Given the description of an element on the screen output the (x, y) to click on. 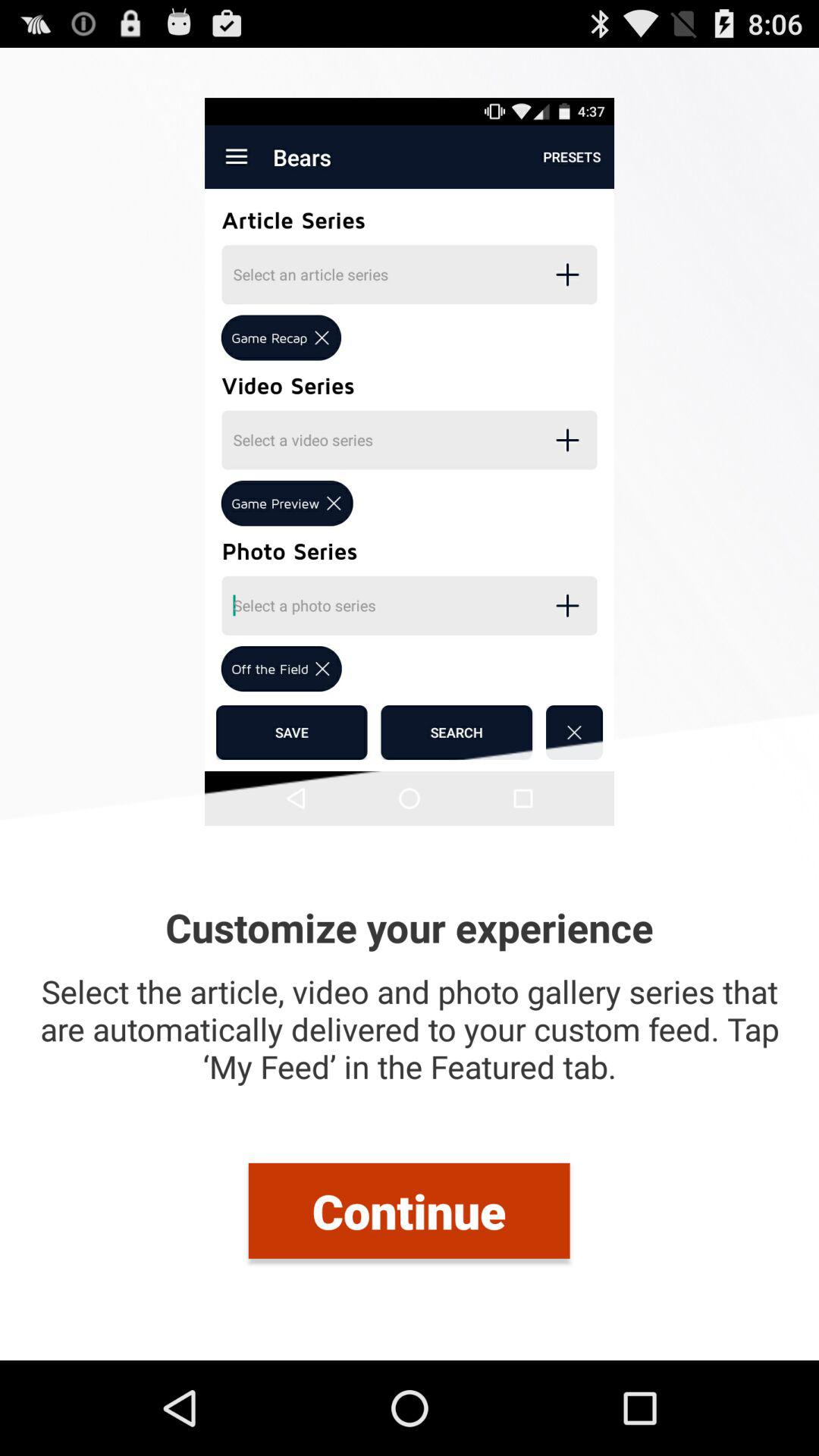
turn on the item below select the article icon (408, 1210)
